Given the description of an element on the screen output the (x, y) to click on. 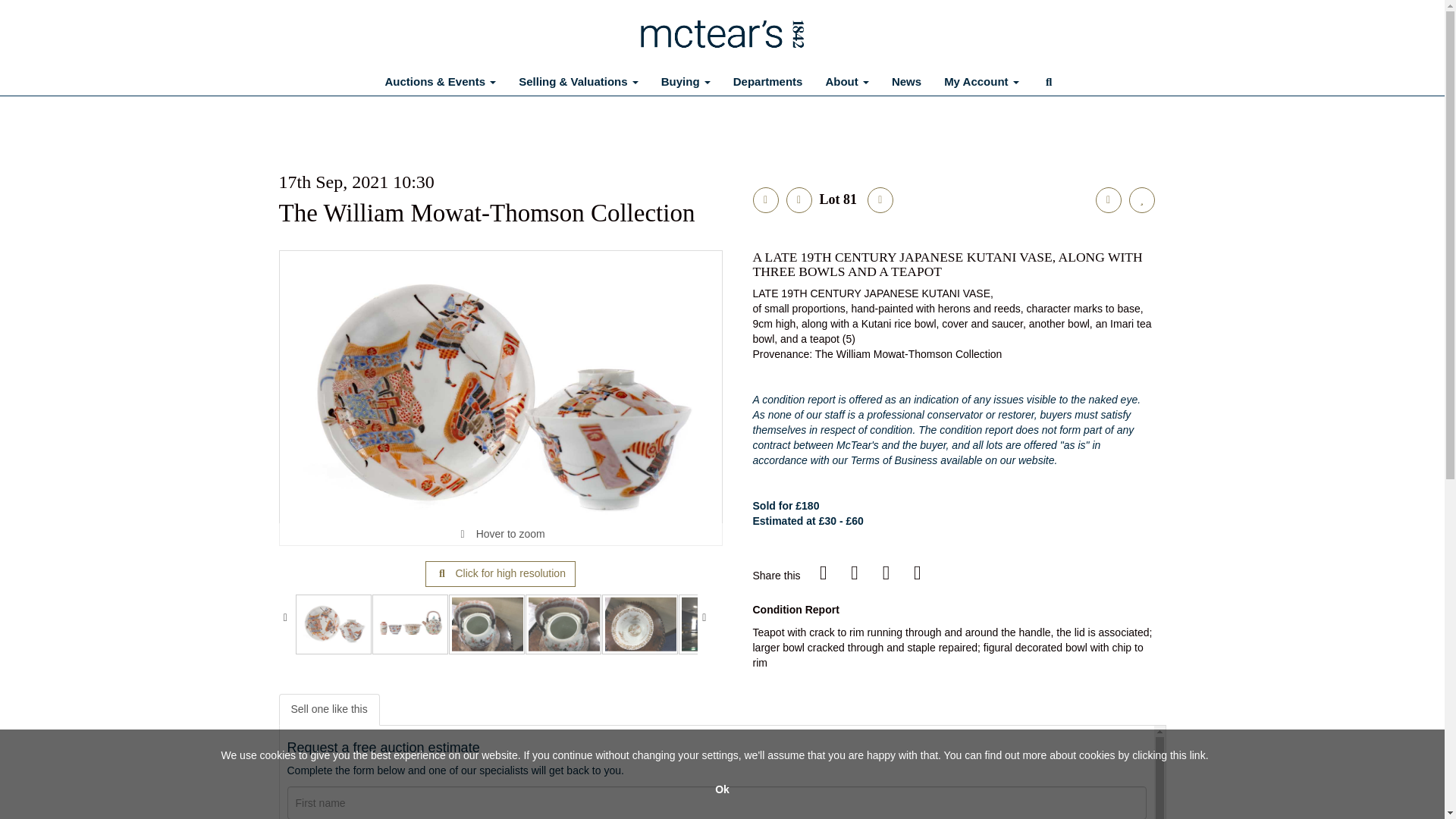
Departments (767, 81)
About (846, 81)
My Account (981, 81)
Buying (685, 81)
The William Mowat-Thomson Collection (487, 212)
News (906, 81)
